Given the description of an element on the screen output the (x, y) to click on. 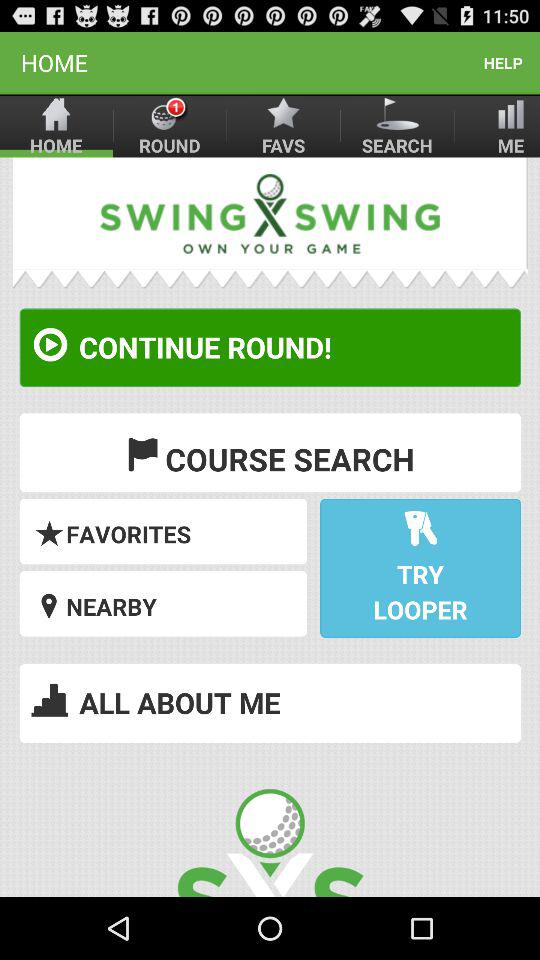
play list option (270, 527)
